Given the description of an element on the screen output the (x, y) to click on. 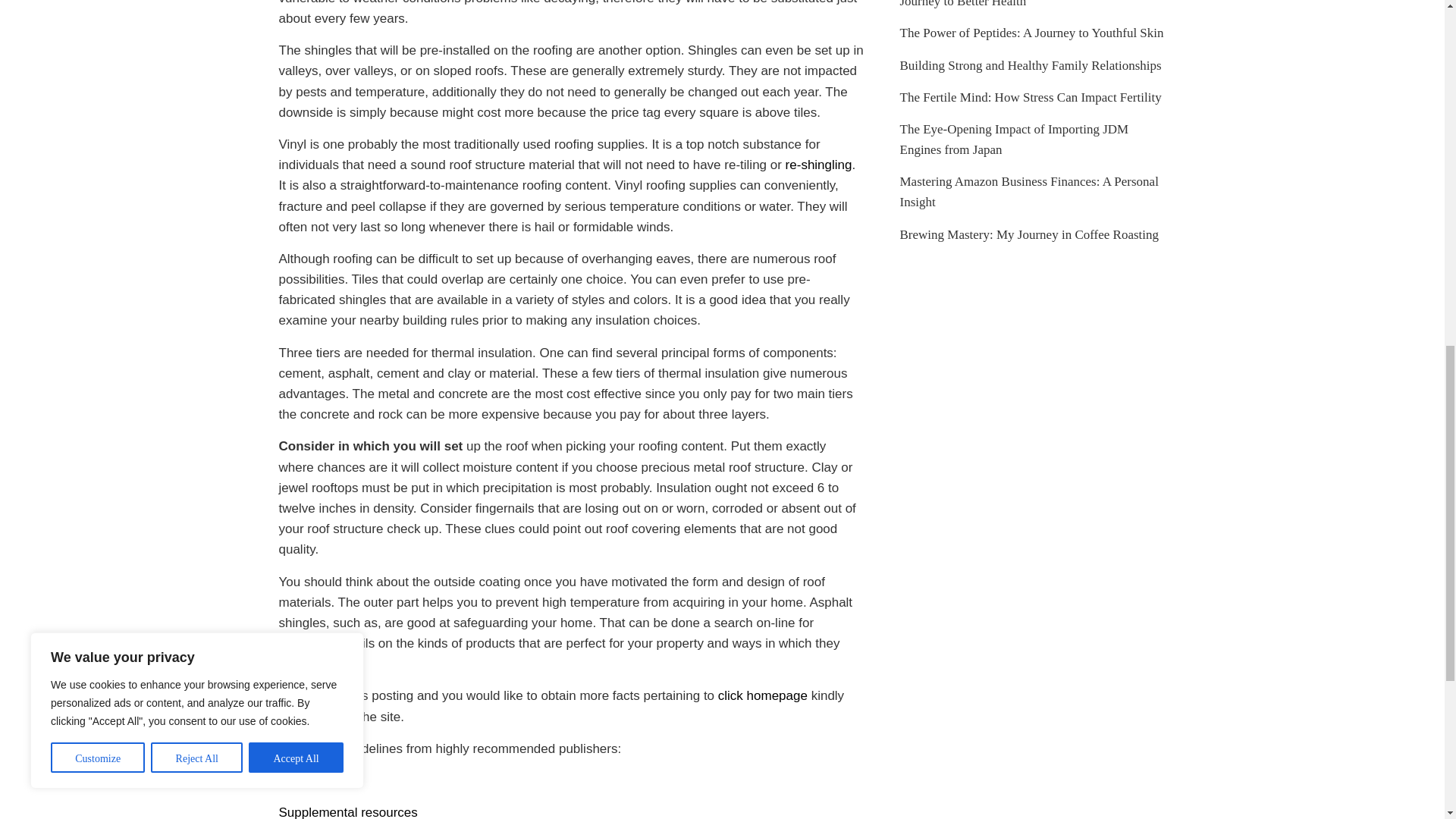
Go!! (290, 780)
Building Strong and Healthy Family Relationships (1029, 64)
re-shingling (818, 164)
The Power of Peptides: A Journey to Youthful Skin (1031, 32)
click homepage (762, 695)
Supplemental resources (348, 812)
